Given the description of an element on the screen output the (x, y) to click on. 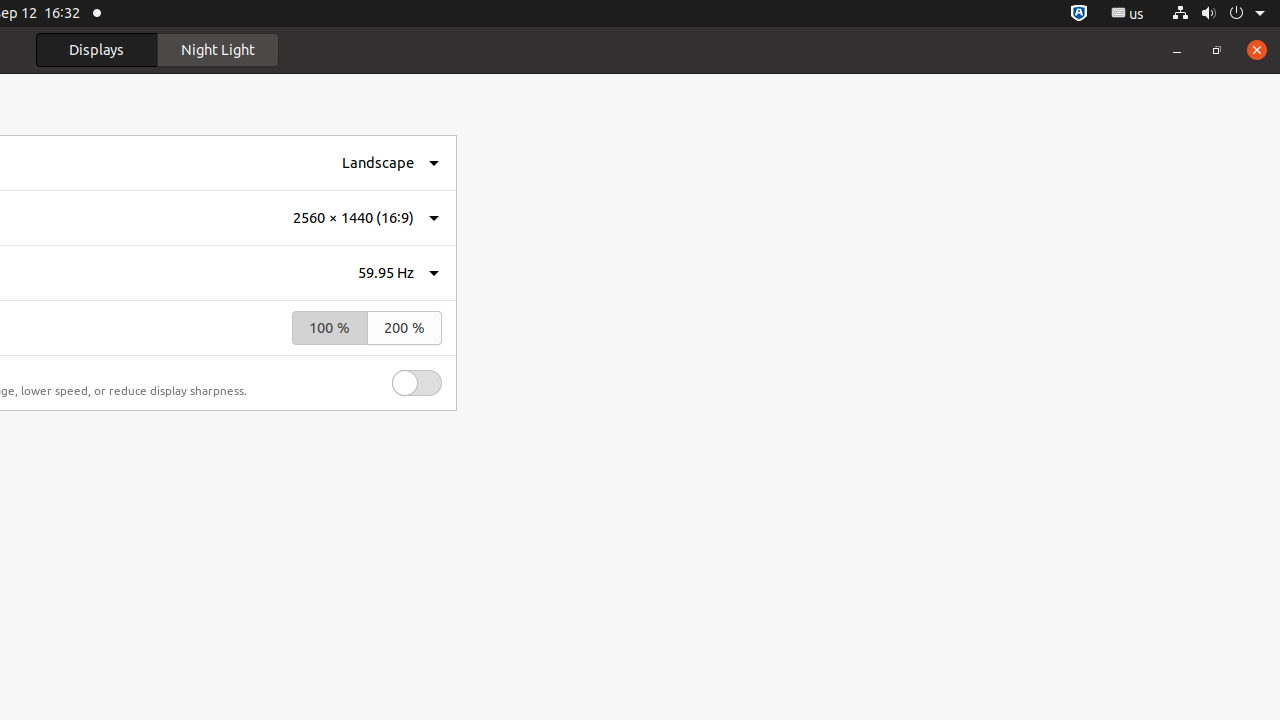
Restore Element type: push-button (1217, 50)
100 % Element type: radio-button (329, 328)
Minimize Element type: push-button (1177, 50)
59.95 Hz Element type: label (386, 272)
200 % Element type: radio-button (404, 328)
